Given the description of an element on the screen output the (x, y) to click on. 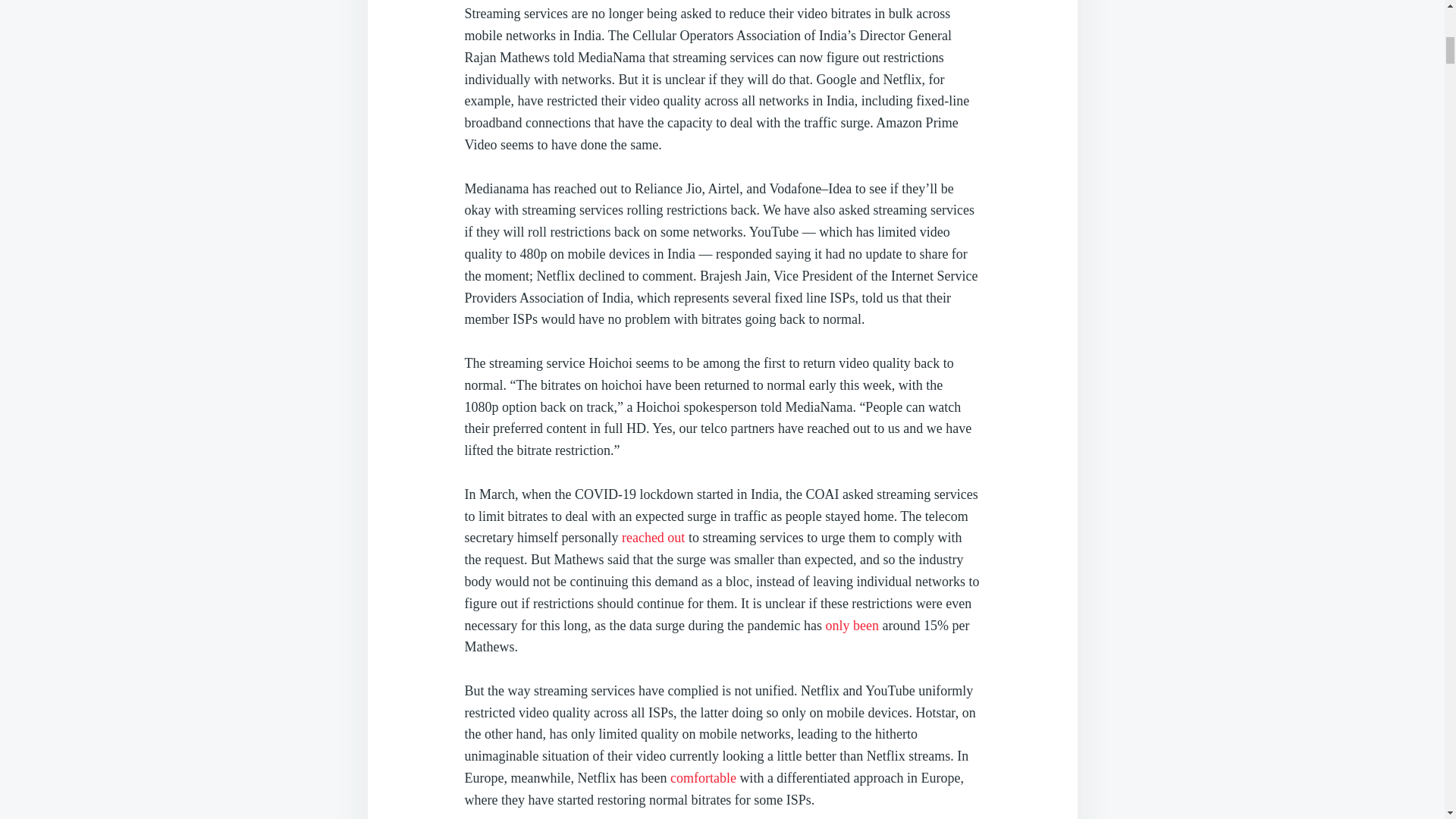
only been (852, 624)
comfortable (702, 777)
reached out (652, 537)
